Given the description of an element on the screen output the (x, y) to click on. 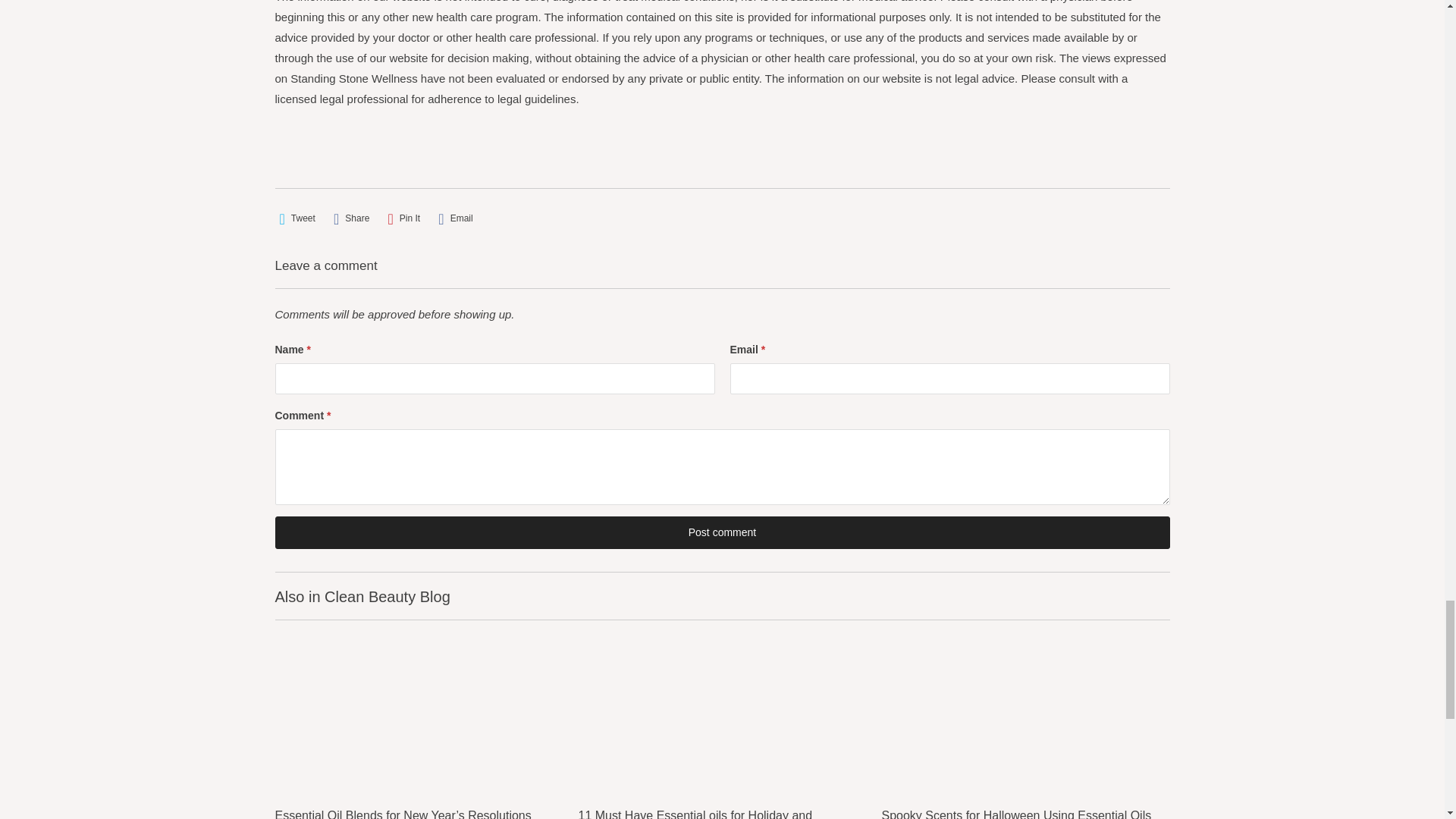
Share this on Twitter (296, 218)
Spooky Scents for Halloween Using Essential Oils (1024, 812)
Share this on Facebook (351, 218)
Email this to a friend (455, 218)
Post comment (722, 532)
11 Must Have Essential oils for Holiday and Christmas Cheer (722, 712)
Spooky Scents for Halloween Using Essential Oils (1024, 712)
Share this on Pinterest (404, 218)
11 Must Have Essential oils for Holiday and Christmas Cheer (722, 812)
